Given the description of an element on the screen output the (x, y) to click on. 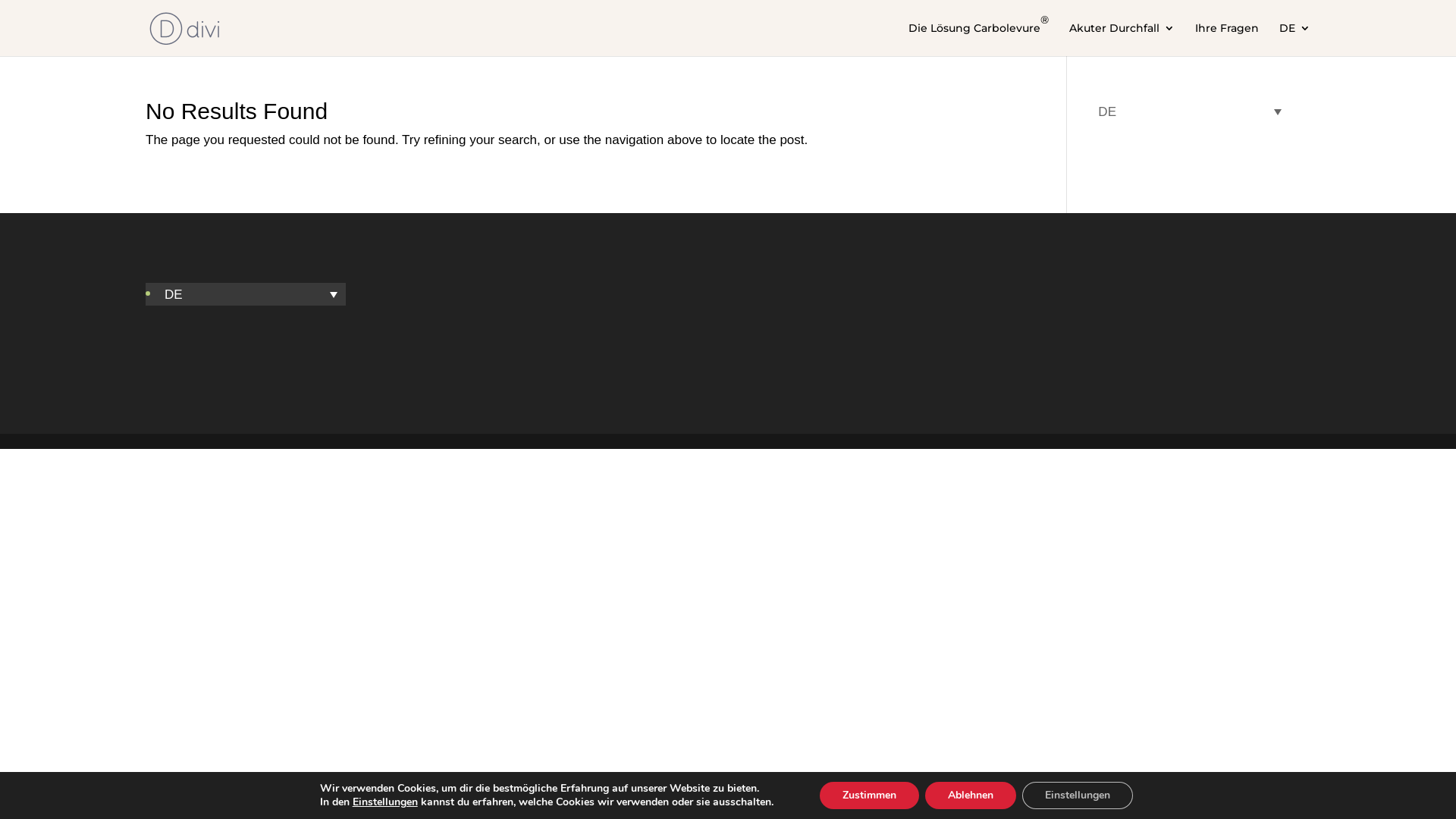
Zustimmen Element type: text (869, 795)
DE Element type: text (1294, 39)
Akuter Durchfall Element type: text (1121, 39)
DE Element type: text (1189, 111)
Ihre Fragen Element type: text (1226, 39)
Einstellungen Element type: text (1077, 795)
Ablehnen Element type: text (970, 795)
DE Element type: text (250, 293)
Einstellungen Element type: text (384, 802)
